Given the description of an element on the screen output the (x, y) to click on. 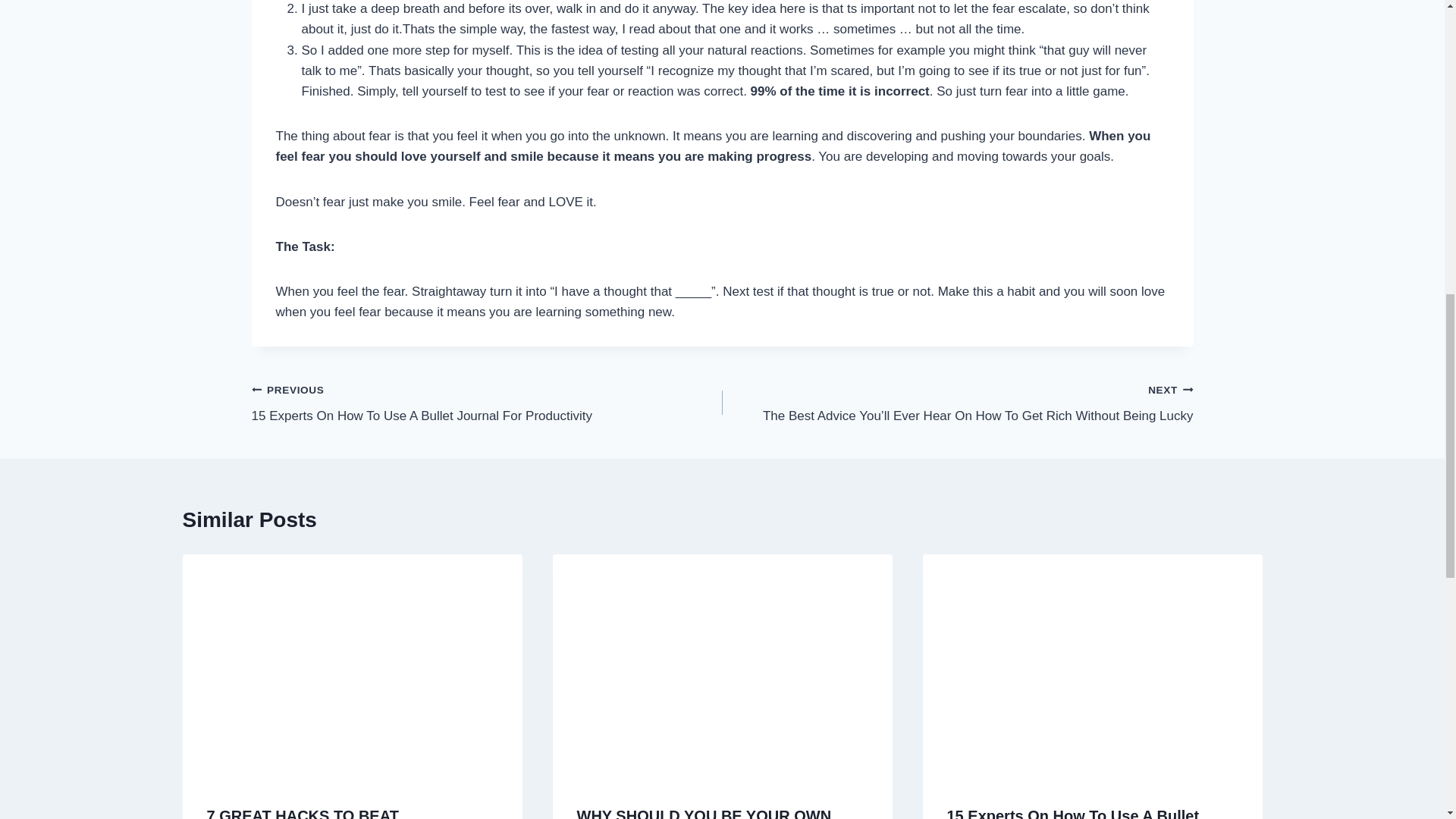
15 Experts On How To Use A Bullet Journal For Productivity (1072, 813)
7 GREAT HACKS TO BEAT PROCRASTINATION (301, 813)
WHY SHOULD YOU BE YOUR OWN BEST FRIEND? (703, 813)
